Given the description of an element on the screen output the (x, y) to click on. 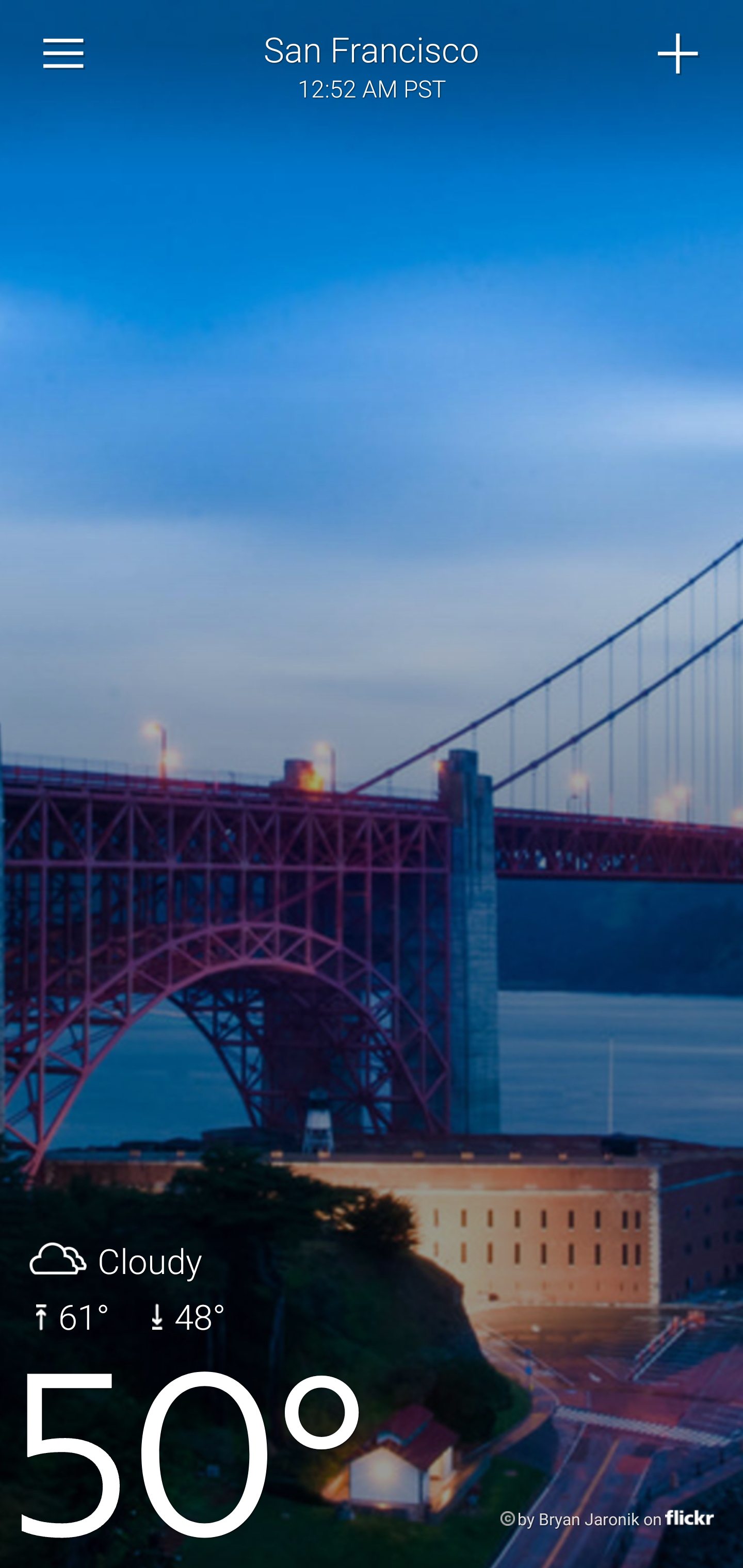
Sidebar (64, 54)
Add City (678, 53)
